Given the description of an element on the screen output the (x, y) to click on. 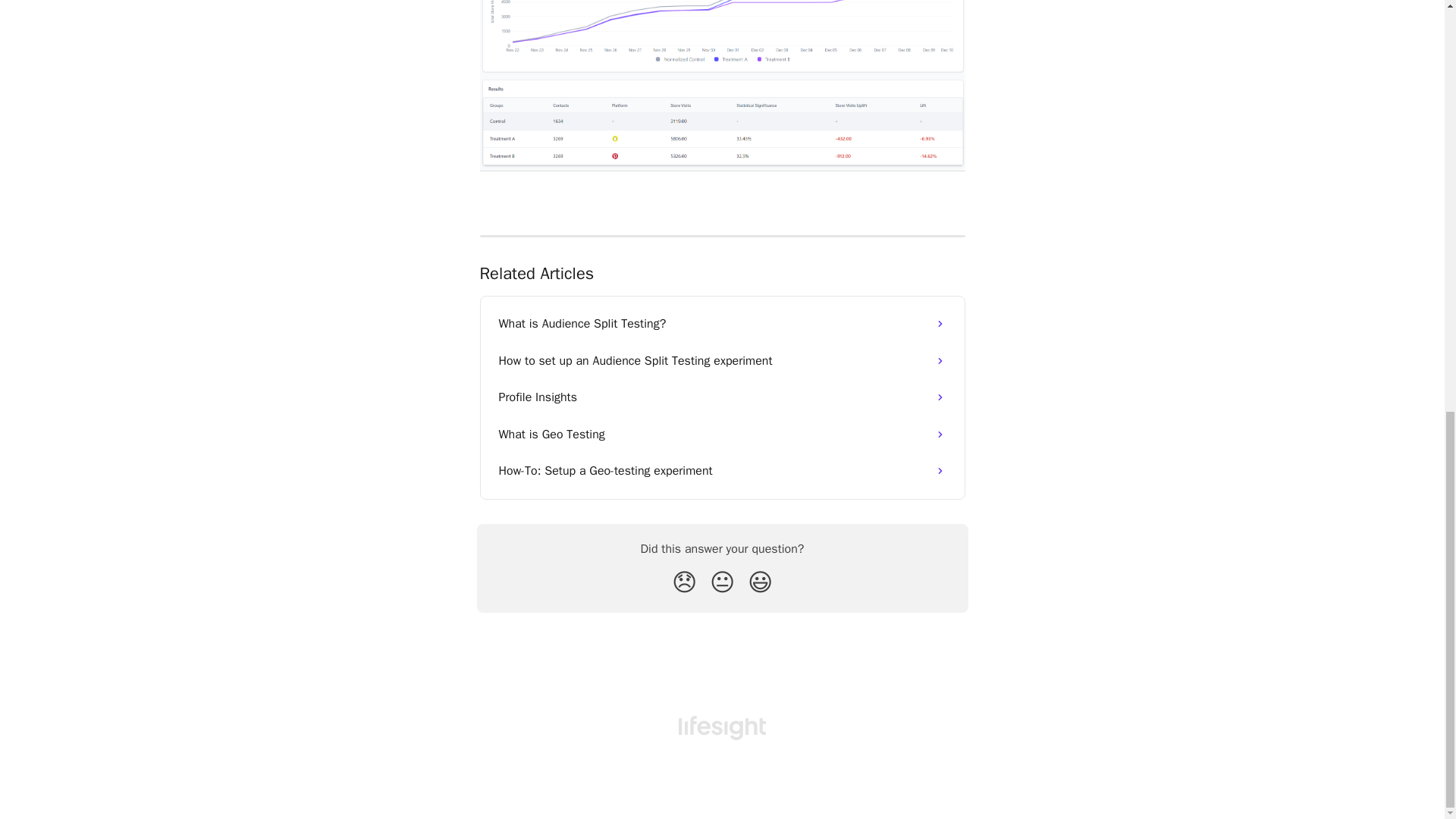
How-To: Setup a Geo-testing experiment (722, 470)
What is Geo Testing (722, 434)
Profile Insights (722, 397)
How to set up an Audience Split Testing experiment (722, 361)
What is Audience Split Testing? (722, 323)
